Given the description of an element on the screen output the (x, y) to click on. 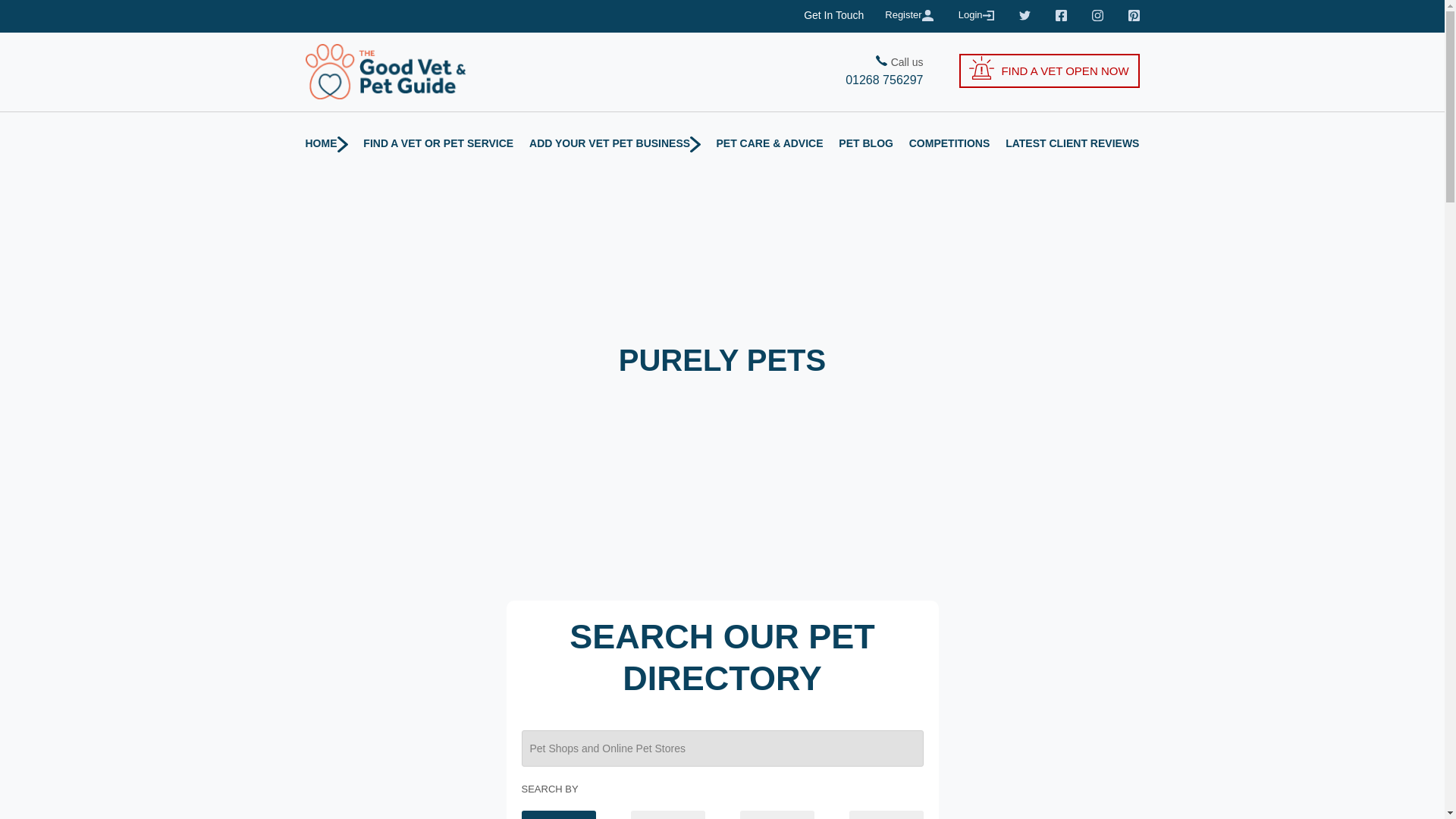
Register (910, 15)
FIND A VET OR PET SERVICE (437, 143)
Get In Touch (833, 15)
01268 756297 (822, 80)
FIND A VET OPEN NOW (1048, 70)
Contact the GVPG (833, 15)
HOME (325, 143)
Login (977, 15)
ADD YOUR VET PET BUSINESS (614, 143)
